Given the description of an element on the screen output the (x, y) to click on. 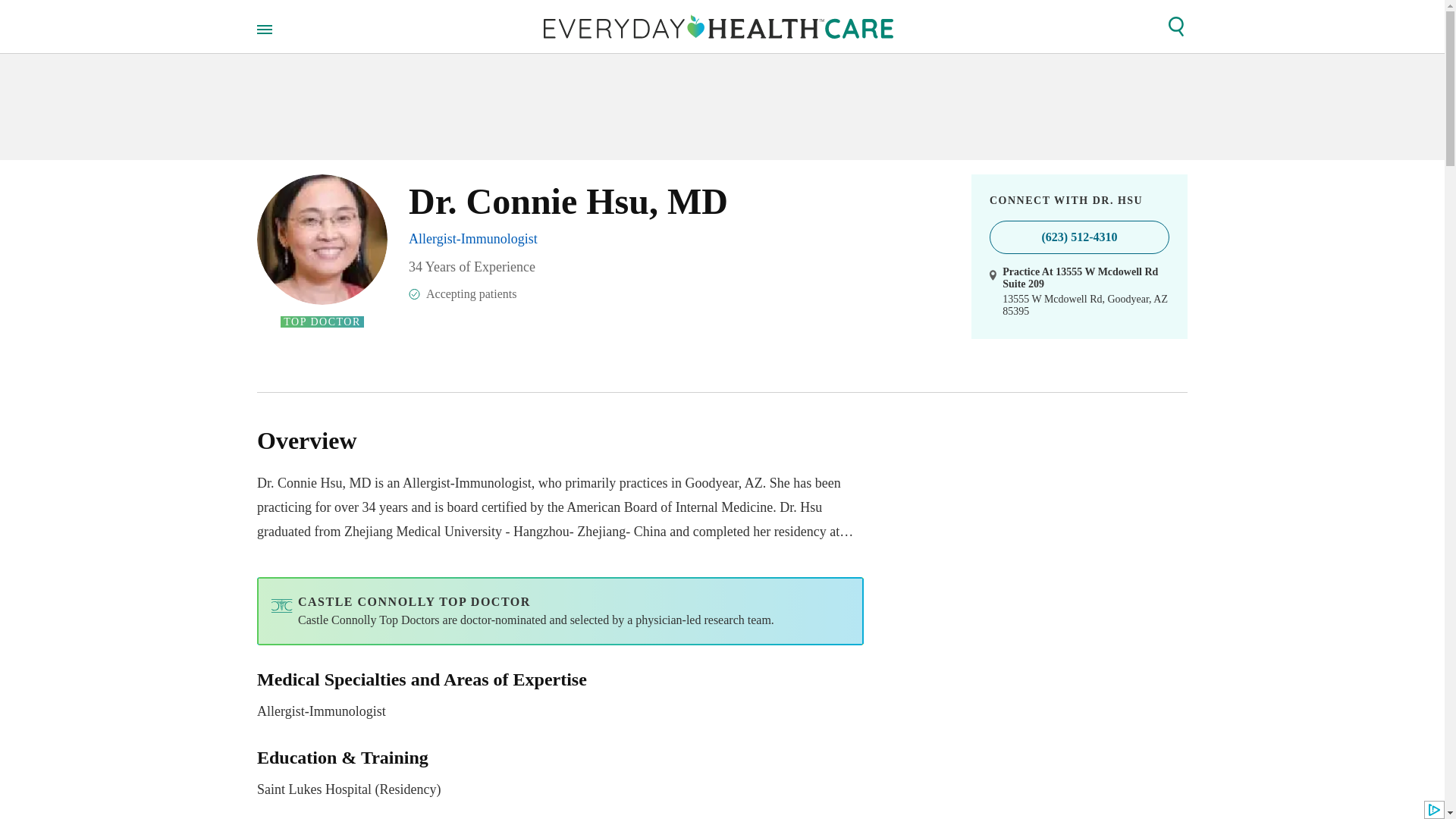
Allergist-Immunologist (473, 238)
